Given the description of an element on the screen output the (x, y) to click on. 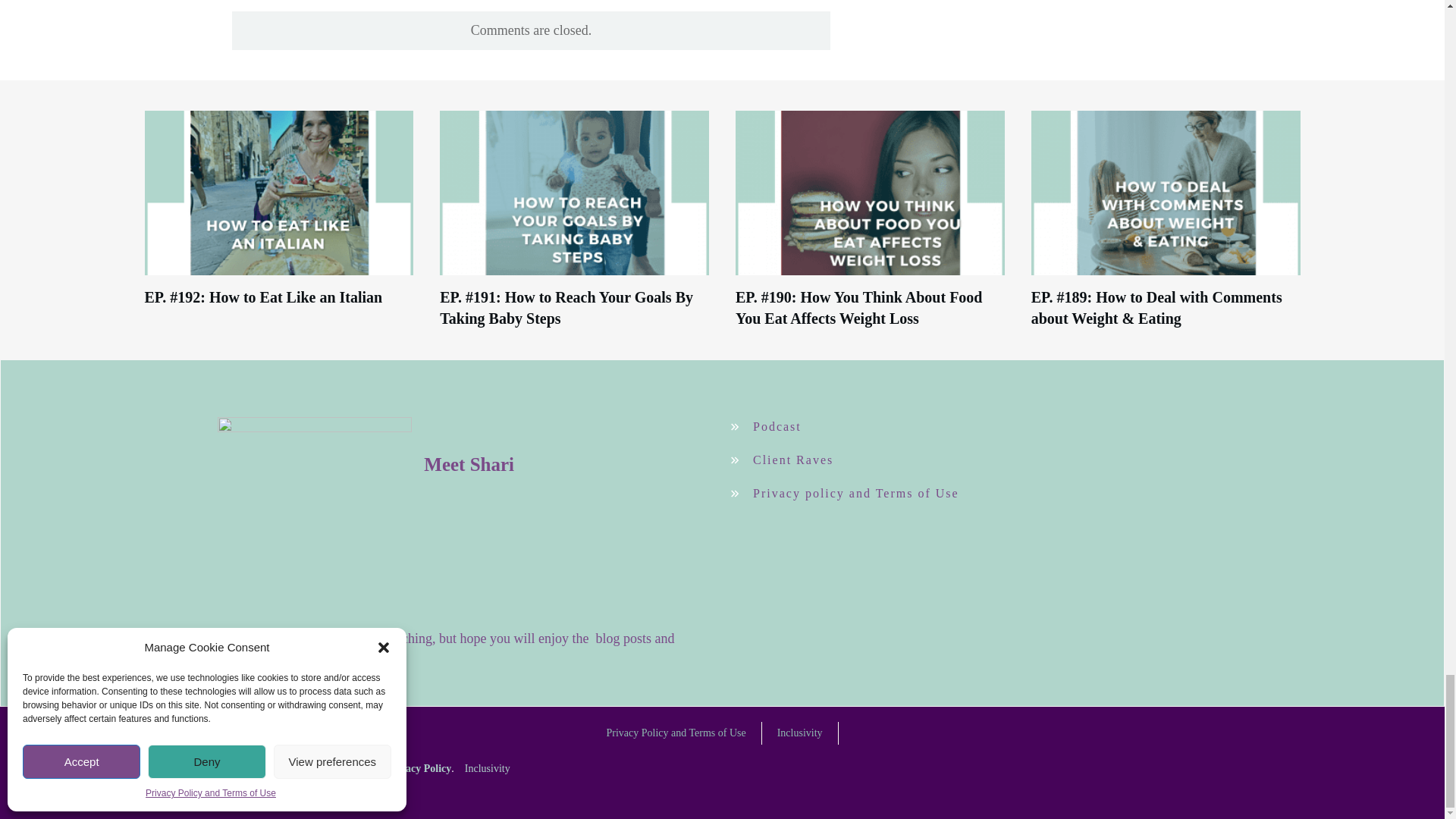
cropped-Shari-28-smaller.jpg (314, 513)
